Given the description of an element on the screen output the (x, y) to click on. 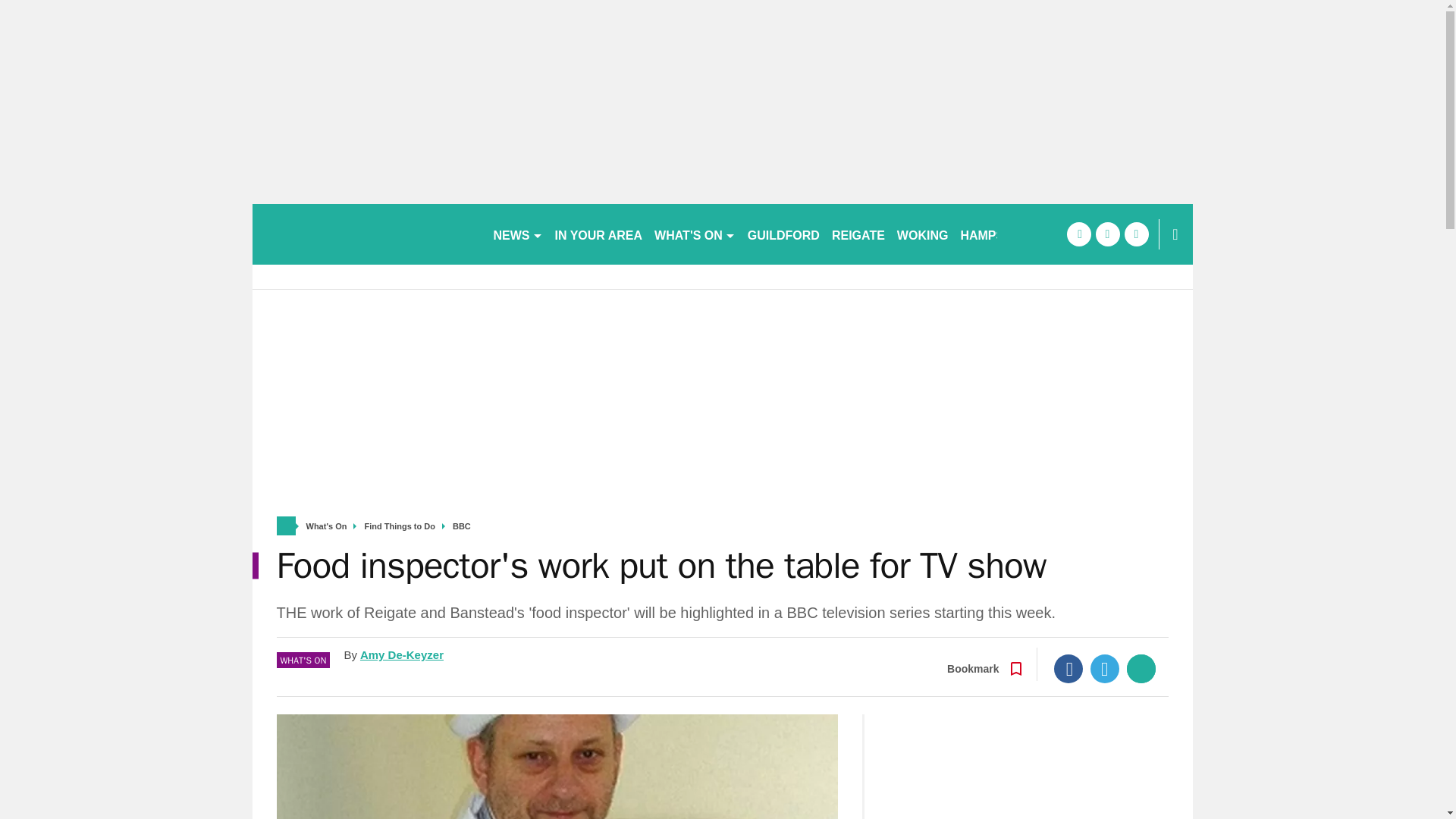
IN YOUR AREA (598, 233)
Facebook (1068, 668)
twitter (1106, 233)
WHAT'S ON (694, 233)
getsurrey (365, 233)
WOKING (923, 233)
facebook (1077, 233)
GUILDFORD (783, 233)
Twitter (1104, 668)
NEWS (517, 233)
HAMPSHIRE (996, 233)
instagram (1136, 233)
REIGATE (858, 233)
